Given the description of an element on the screen output the (x, y) to click on. 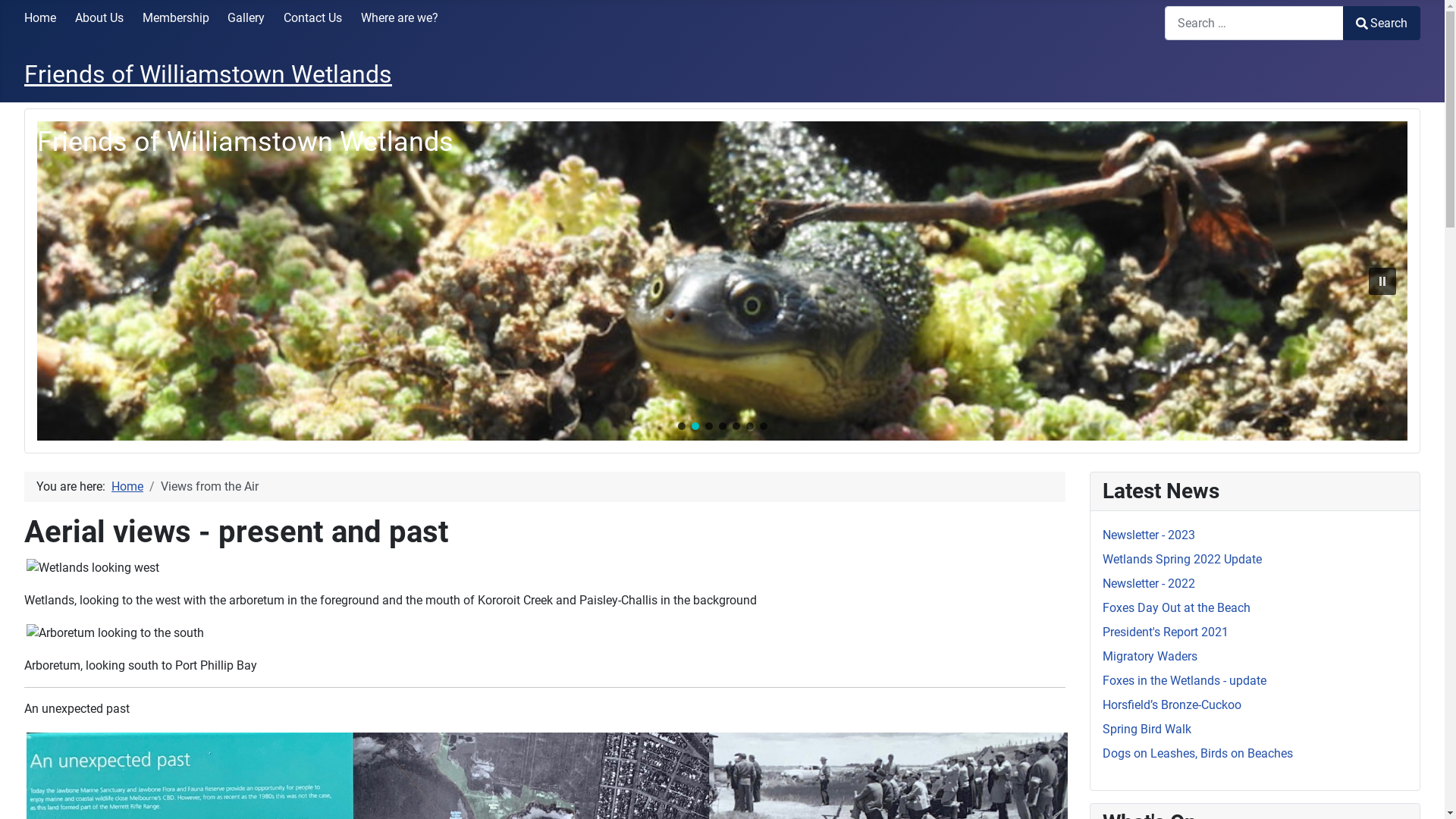
Newsletter - 2022 Element type: text (1148, 583)
Arboretum looking to the south Element type: hover (114, 633)
Foxes in the Wetlands - update Element type: text (1184, 680)
Newsletter - 2023 Element type: text (1148, 534)
Wetlands Spring 2022 Update Element type: text (1181, 559)
Foxes Day Out at the Beach Element type: text (1176, 607)
About Us Element type: text (99, 17)
Where are we? Element type: text (399, 17)
Membership Element type: text (175, 17)
President's Report 2021 Element type: text (1165, 631)
Migratory Waders Element type: text (1149, 656)
Wetlands looking west Element type: hover (92, 567)
Gallery Element type: text (245, 17)
Dogs on Leashes, Birds on Beaches Element type: text (1197, 753)
Spring Bird Walk Element type: text (1146, 728)
Home Element type: text (127, 486)
Contact Us Element type: text (312, 17)
Friends of Williamstown Wetlands Element type: text (208, 73)
Home Element type: text (40, 17)
Search Element type: text (1381, 23)
